Given the description of an element on the screen output the (x, y) to click on. 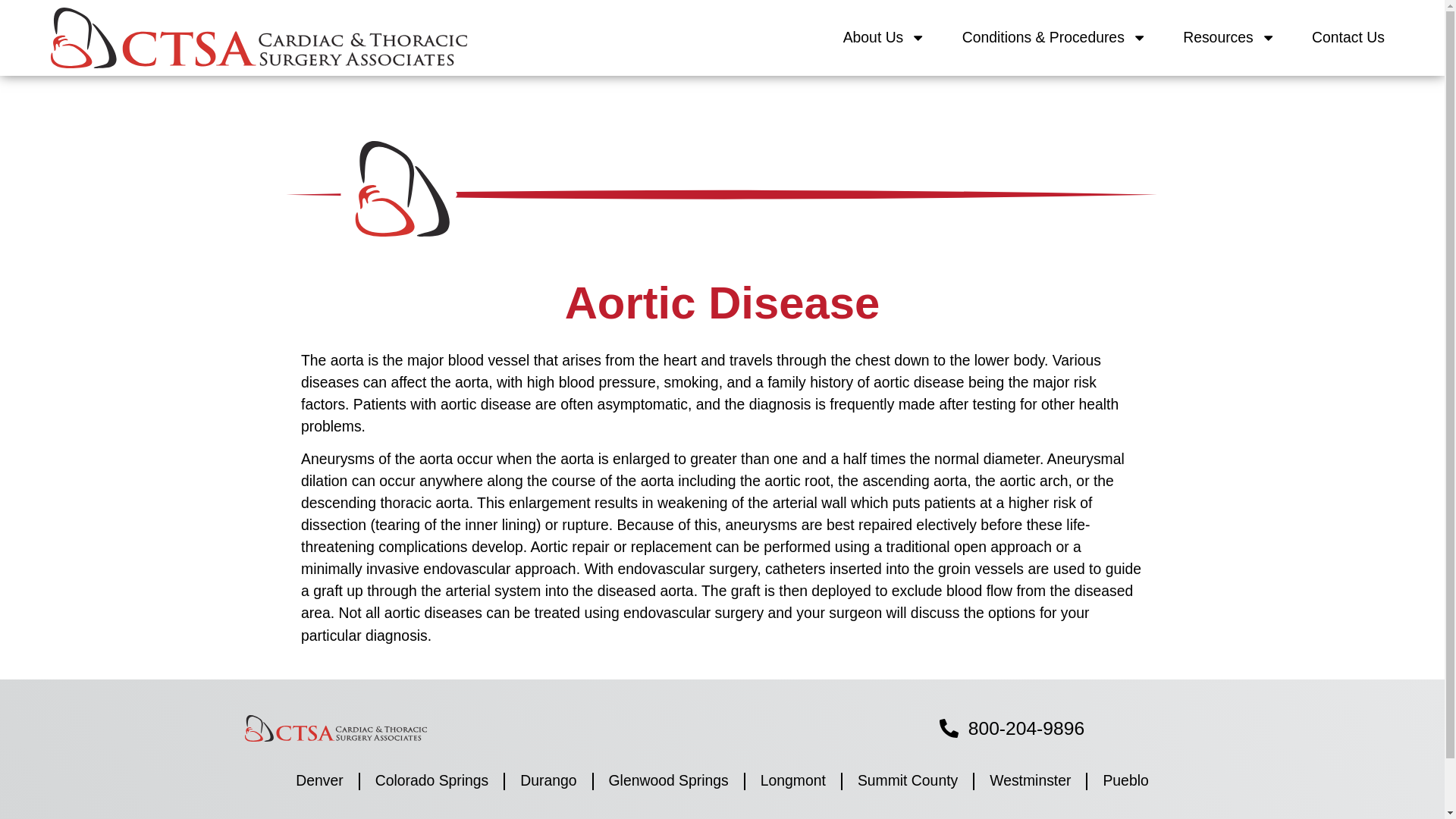
Contact Us (1348, 37)
Resources (1228, 37)
About Us (884, 37)
